Given the description of an element on the screen output the (x, y) to click on. 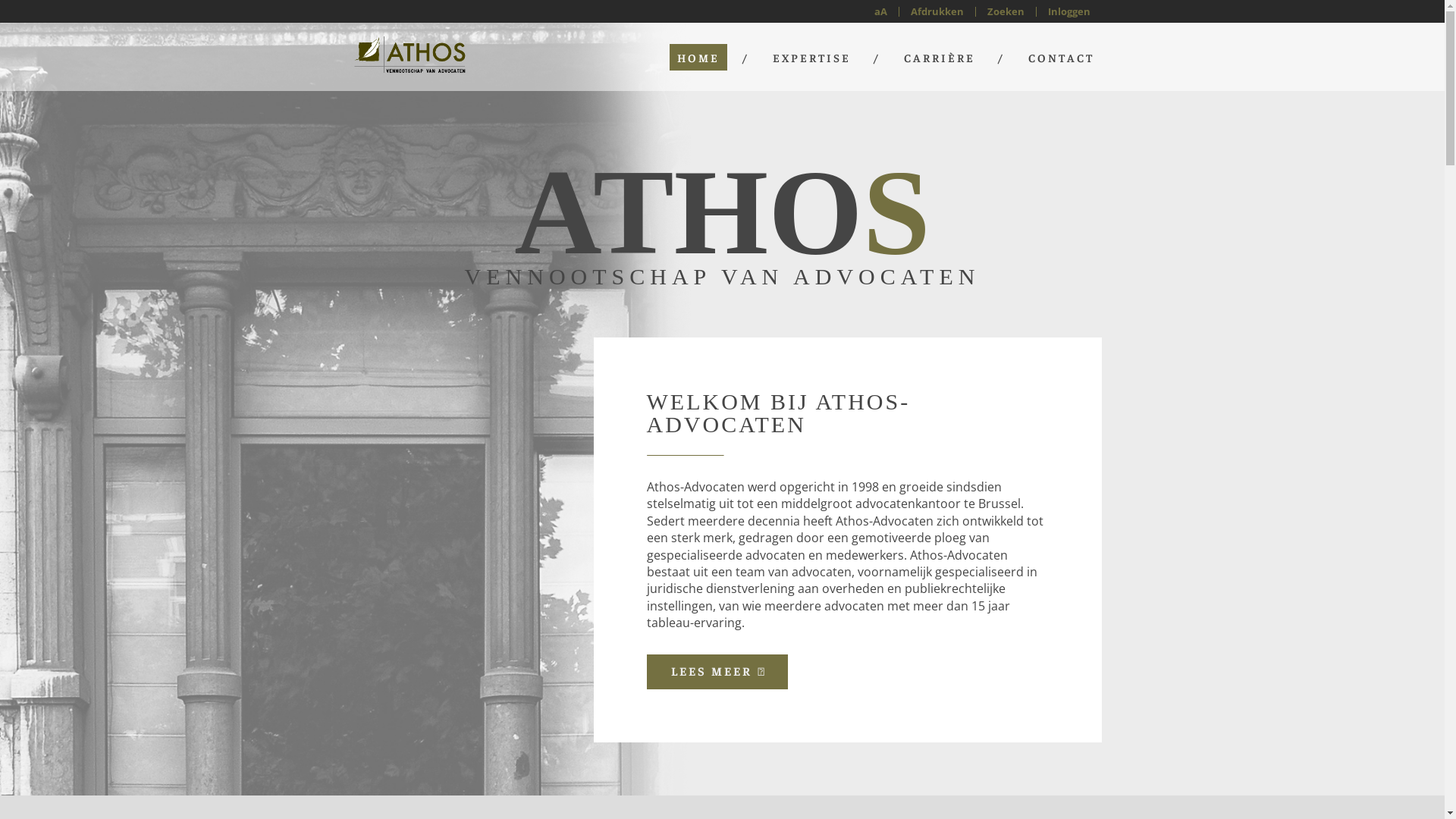
CONTACT Element type: text (1060, 56)
LEES MEER Element type: text (716, 671)
Inloggen Element type: text (1068, 10)
Afdrukken Element type: text (937, 10)
aA Element type: text (880, 10)
HOME Element type: text (697, 56)
EXPERTISE Element type: text (810, 56)
Zoeken Element type: text (1005, 10)
